Given the description of an element on the screen output the (x, y) to click on. 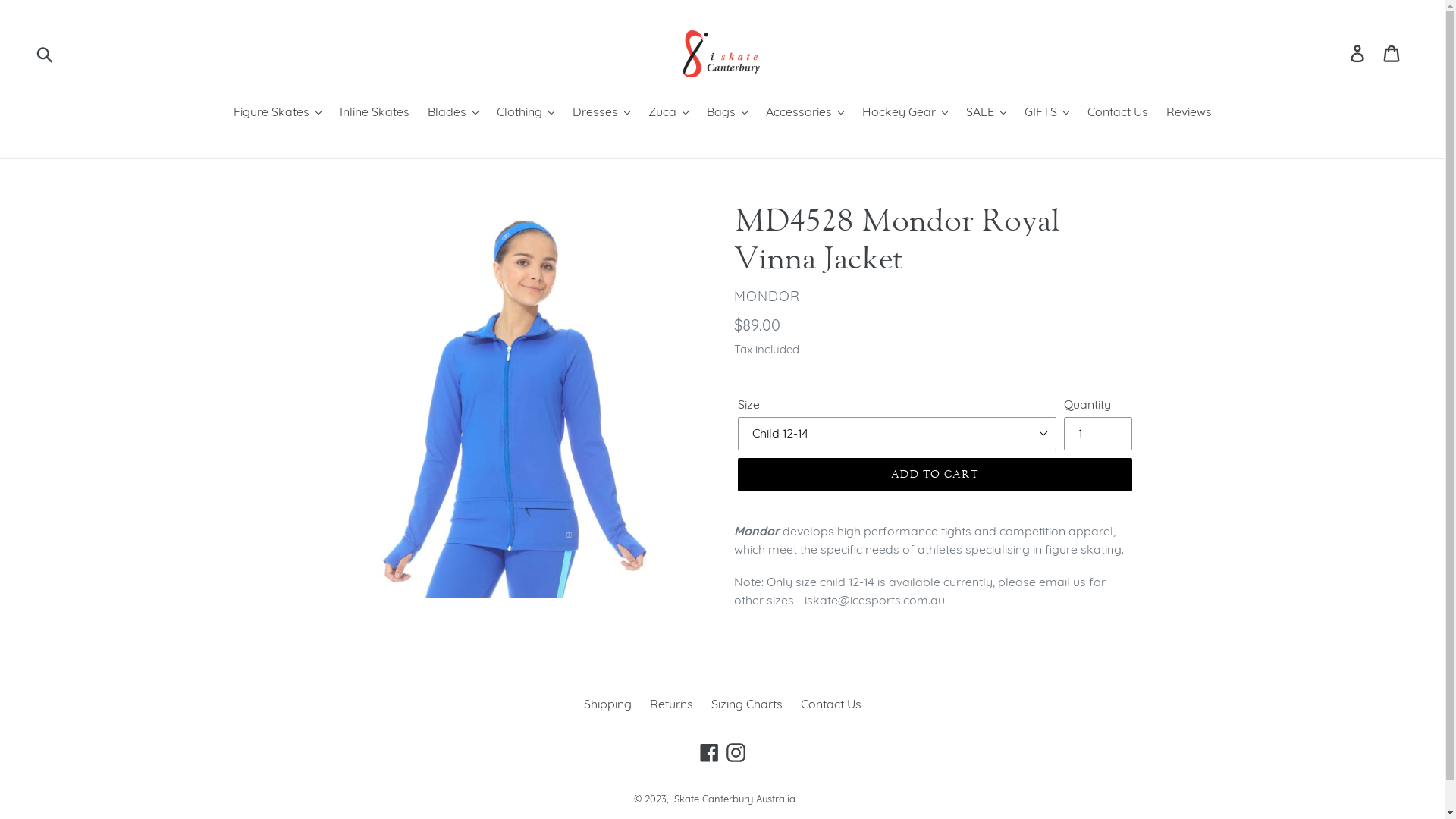
Cart Element type: text (1392, 52)
Facebook Element type: text (709, 752)
Shipping Element type: text (607, 703)
Contact Us Element type: text (1117, 112)
Inline Skates Element type: text (374, 112)
Log in Element type: text (1358, 52)
ADD TO CART Element type: text (934, 474)
Reviews Element type: text (1188, 112)
Returns Element type: text (670, 703)
Contact Us Element type: text (830, 703)
Submit Element type: text (45, 52)
Instagram Element type: text (734, 752)
Sizing Charts Element type: text (746, 703)
